Given the description of an element on the screen output the (x, y) to click on. 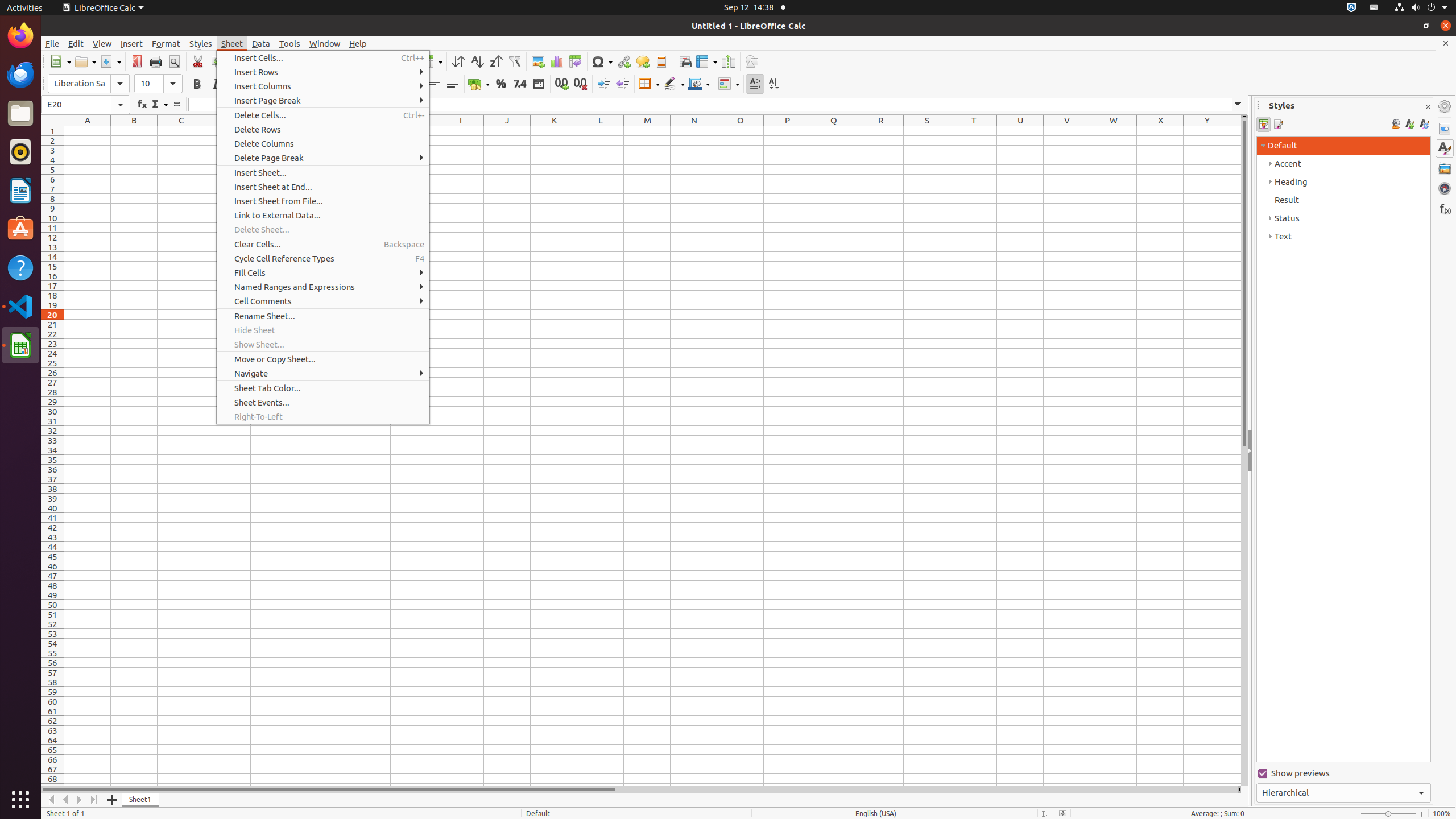
Delete Sheet... Element type: menu-item (322, 229)
Bold Element type: toggle-button (196, 83)
Function Wizard Element type: push-button (141, 104)
Show Applications Element type: toggle-button (20, 799)
Name Box Element type: combo-box (85, 104)
